Given the description of an element on the screen output the (x, y) to click on. 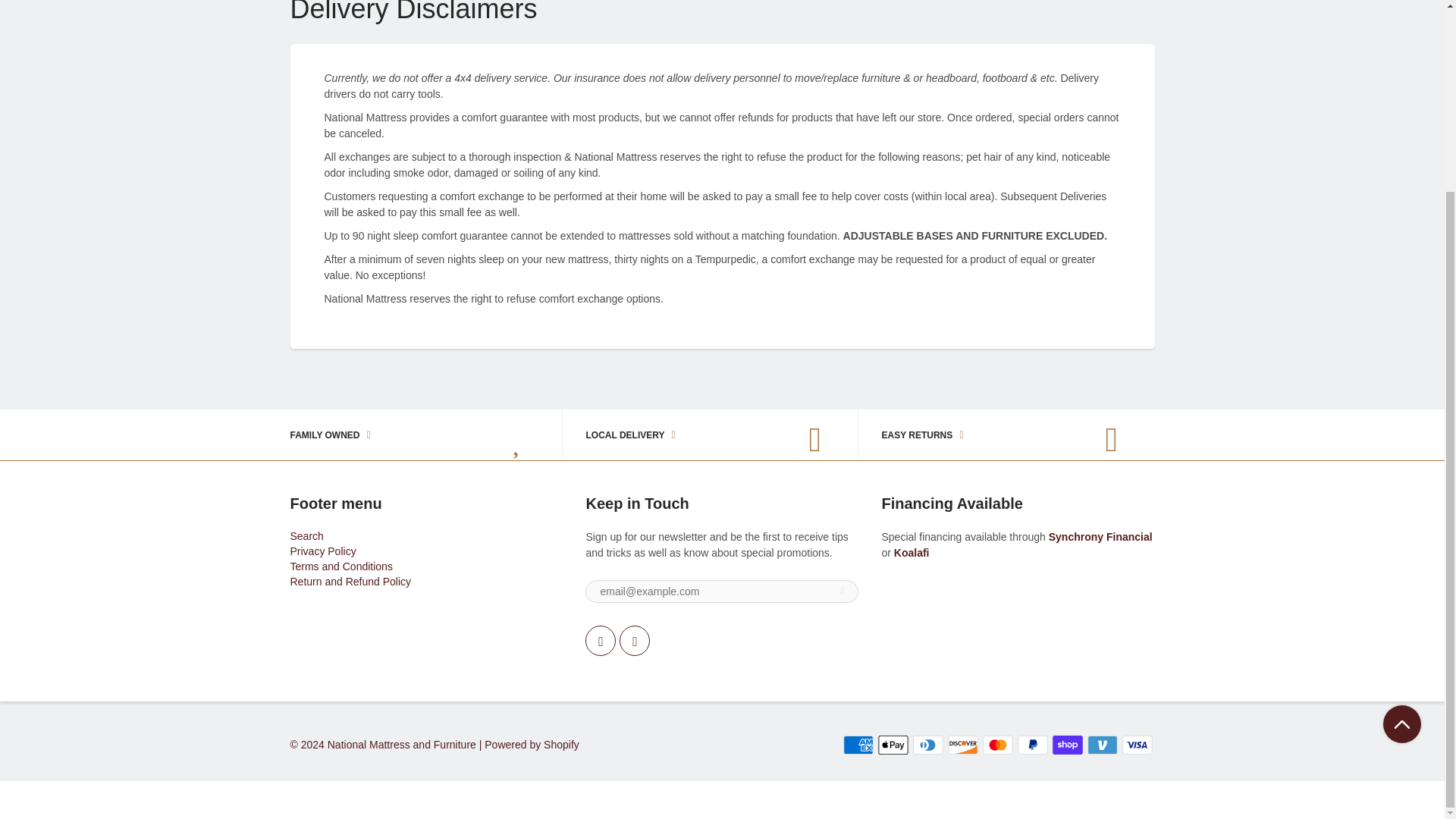
Venmo (1102, 744)
Instagram (634, 640)
Privacy Policy (322, 551)
Mastercard (997, 744)
Facebook (600, 640)
Search (306, 535)
Return and Refund Policy (349, 581)
Visa (1137, 744)
Diners Club (927, 744)
Shop Pay (1067, 744)
